Given the description of an element on the screen output the (x, y) to click on. 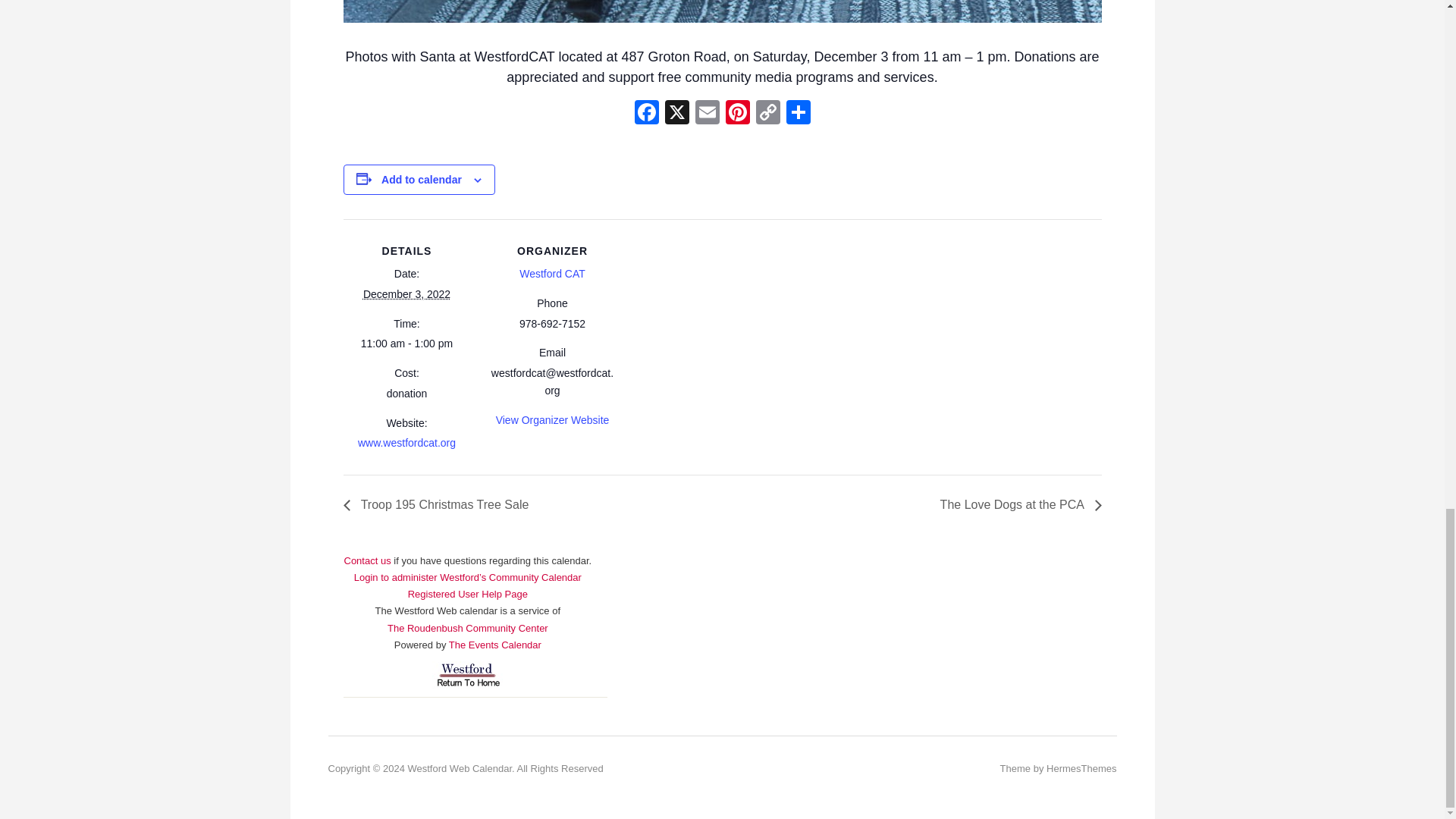
Email (706, 113)
Facebook (645, 113)
Pinterest (737, 113)
2022-12-03 (405, 294)
Facebook (645, 113)
HermesThemes (1081, 767)
2022-12-03 (406, 343)
X (676, 113)
Registered User Help Page (467, 593)
The Events Calendar (494, 644)
www.westfordcat.org (406, 442)
The Roudenbush Community Center (467, 627)
Troop 195 Christmas Tree Sale (439, 504)
Westford CAT (552, 273)
Add to calendar (421, 179)
